Given the description of an element on the screen output the (x, y) to click on. 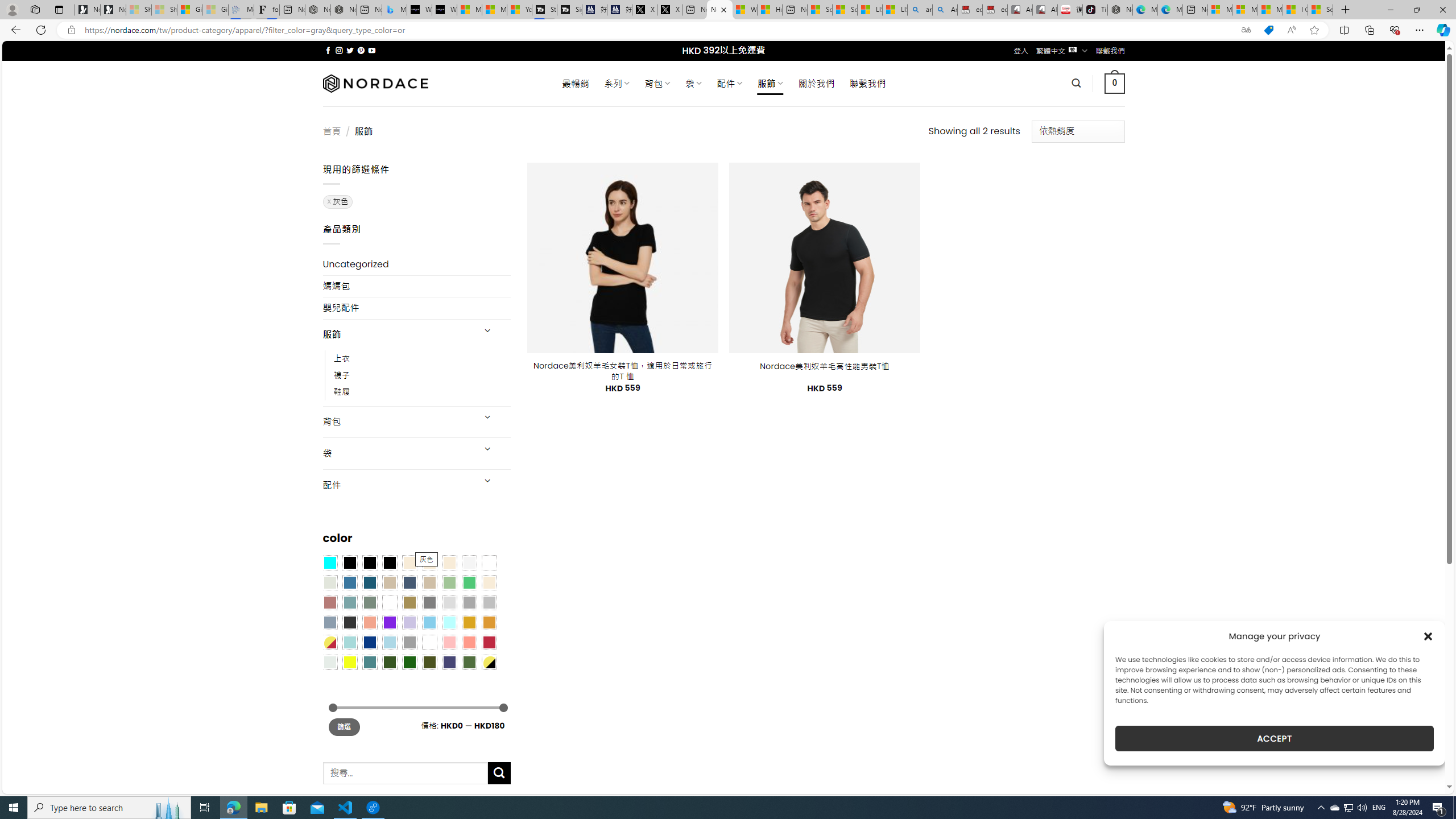
Amazon Echo Dot PNG - Search Images (944, 9)
